Given the description of an element on the screen output the (x, y) to click on. 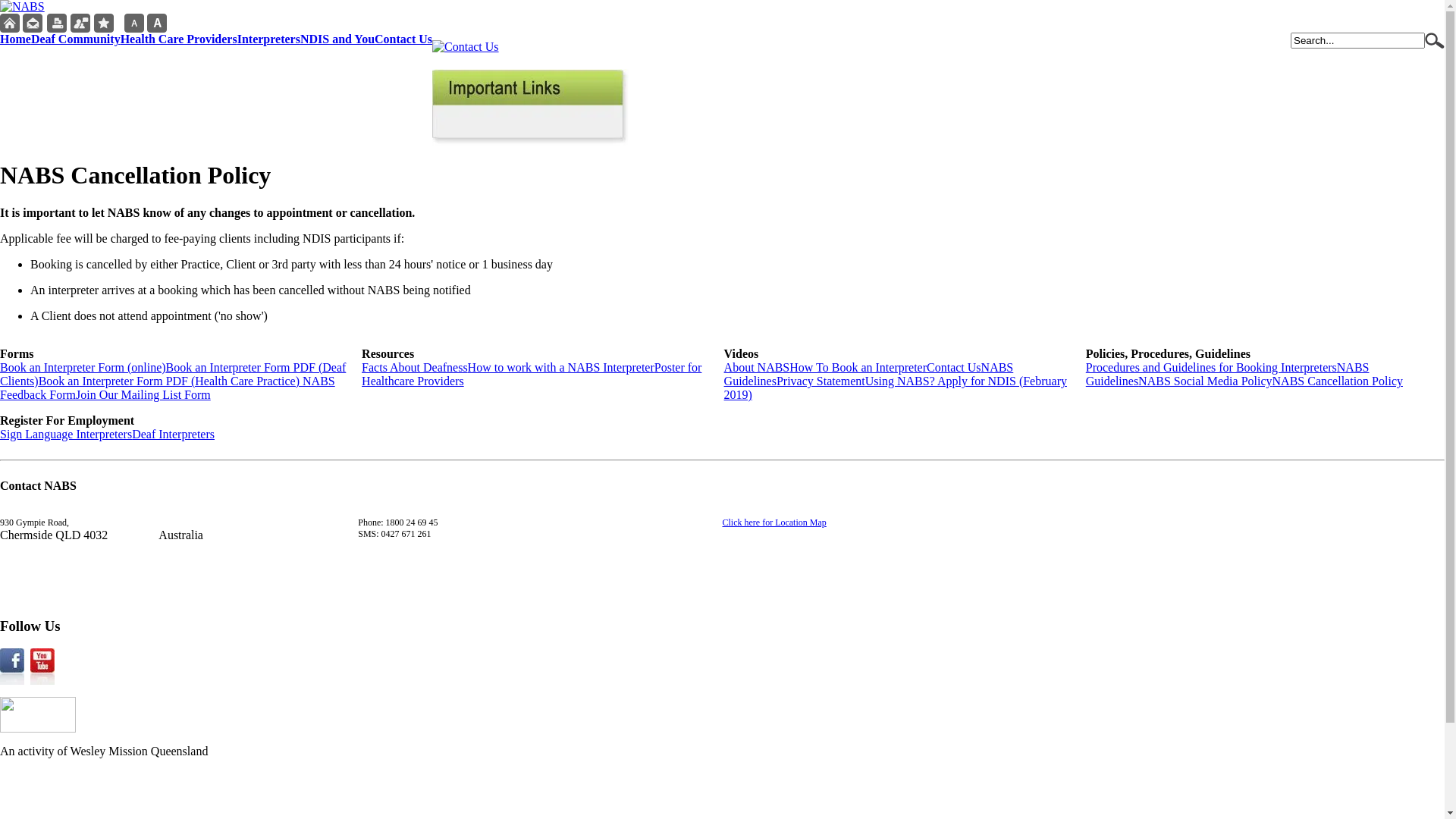
Book an Interpreter Form PDF (Deaf Clients) Element type: text (172, 373)
Contact Us Element type: text (403, 39)
NABS Feedback Form Element type: text (167, 387)
Contact Us Element type: text (953, 366)
How to work with a NABS Interpreter Element type: text (560, 366)
Deaf Community Element type: text (75, 39)
NABS Element type: hover (22, 6)
How To Book an Interpreter Element type: text (857, 366)
Home Element type: text (15, 39)
Poster for Healthcare Providers Element type: text (531, 373)
Privacy Statement Element type: text (820, 380)
Procedures and Guidelines for Booking Interpreters Element type: text (1210, 366)
Interpreters Element type: text (268, 39)
NABS Guidelines Element type: text (1227, 373)
Book an Interpreter Form PDF (Health Care Practice)  Element type: text (170, 380)
Join Our Mailing List Form Element type: text (142, 394)
NABS Guidelines Element type: text (868, 373)
Book an Interpreter Form (online) Element type: text (83, 366)
Click here for Location Map Element type: text (773, 522)
NABS Social Media Policy Element type: text (1204, 380)
Deaf Interpreters Element type: text (172, 433)
About NABS Element type: text (757, 366)
Sign Language Interpreters Element type: text (65, 433)
Health Care Providers Element type: text (178, 39)
NDIS and You Element type: text (337, 39)
Facts About Deafness Element type: text (414, 366)
Go Element type: hover (1434, 43)
NABS Cancellation Policy Element type: text (1337, 380)
Using NABS? Apply for NDIS (February 2019) Element type: text (895, 387)
